Given the description of an element on the screen output the (x, y) to click on. 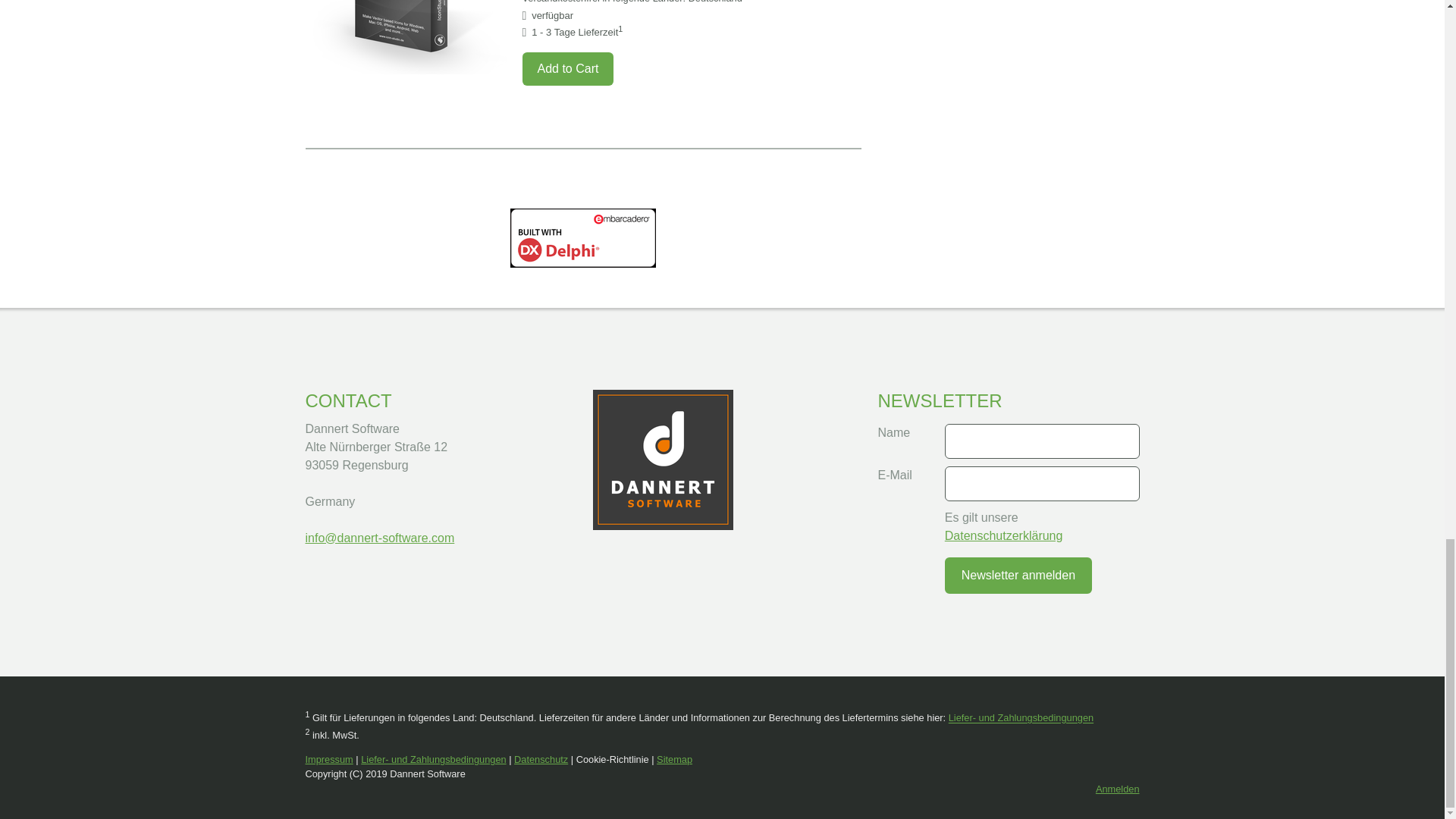
Liefer- und Zahlungsbedingungen (433, 758)
Newsletter anmelden (1018, 575)
Add to Cart (566, 68)
Newsletter anmelden (1018, 575)
Liefer- und Zahlungsbedingungen (1021, 717)
Anmelden (1118, 788)
Sitemap (674, 758)
Datenschutz (540, 758)
Impressum (328, 758)
Cookie-Richtlinie (612, 758)
